Given the description of an element on the screen output the (x, y) to click on. 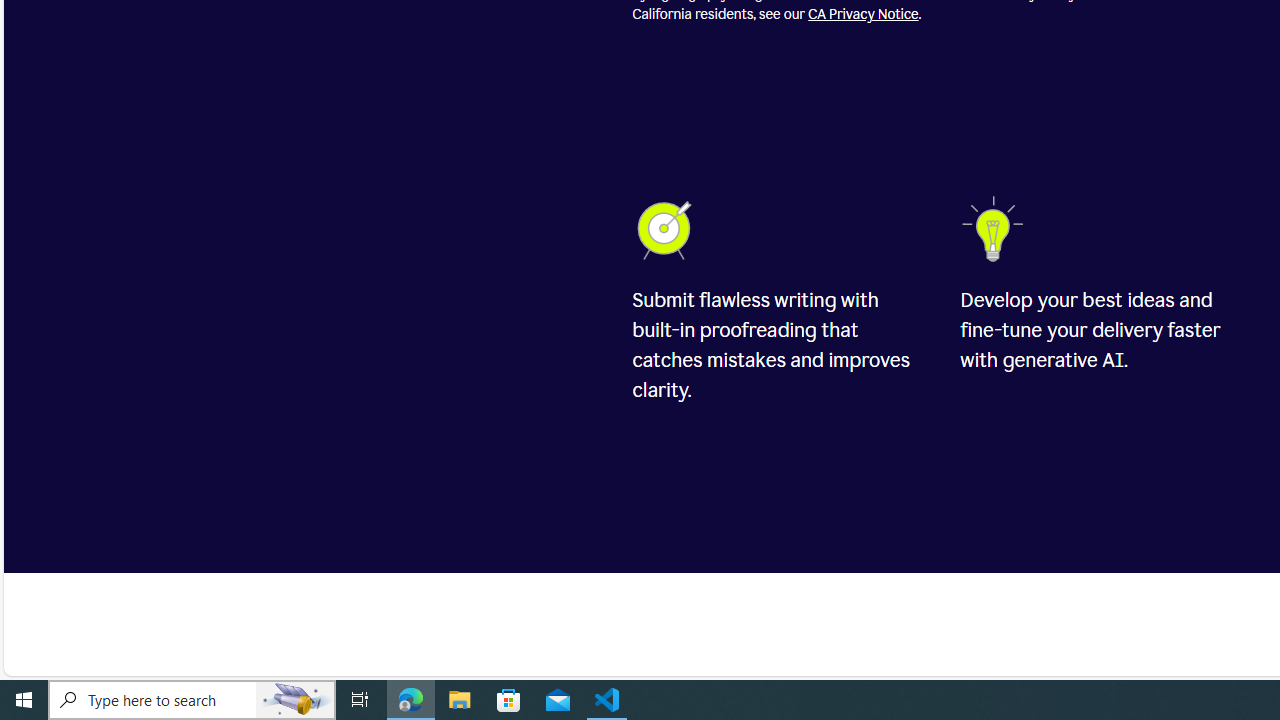
Lightbulb (995, 228)
Target with arrow (667, 228)
CA Privacy Notice (863, 14)
